Given the description of an element on the screen output the (x, y) to click on. 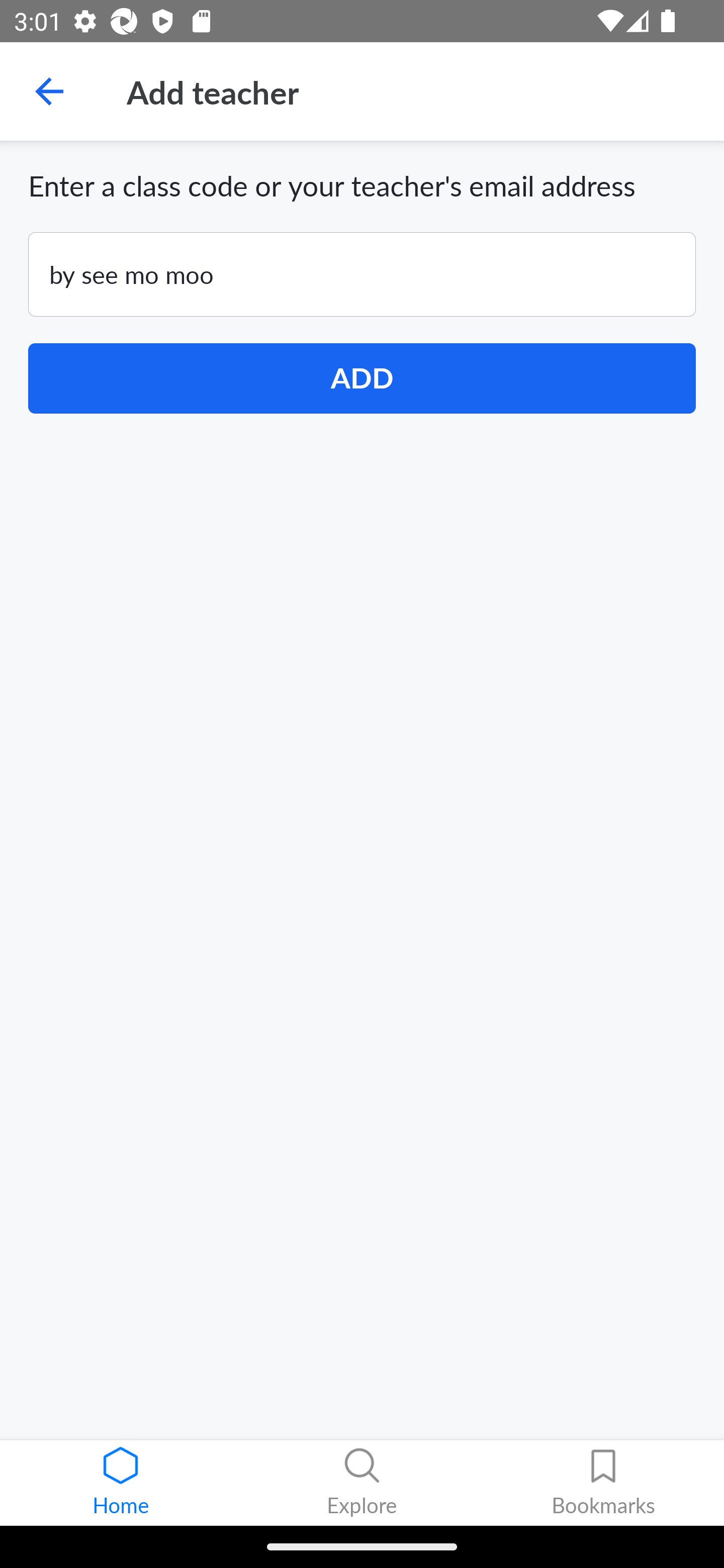
Navigate up (49, 91)
by see mo moo e.g. ABC123 or teacher@example.com (361, 274)
ADD (361, 378)
Home (120, 1482)
Explore (361, 1482)
Bookmarks (603, 1482)
